Given the description of an element on the screen output the (x, y) to click on. 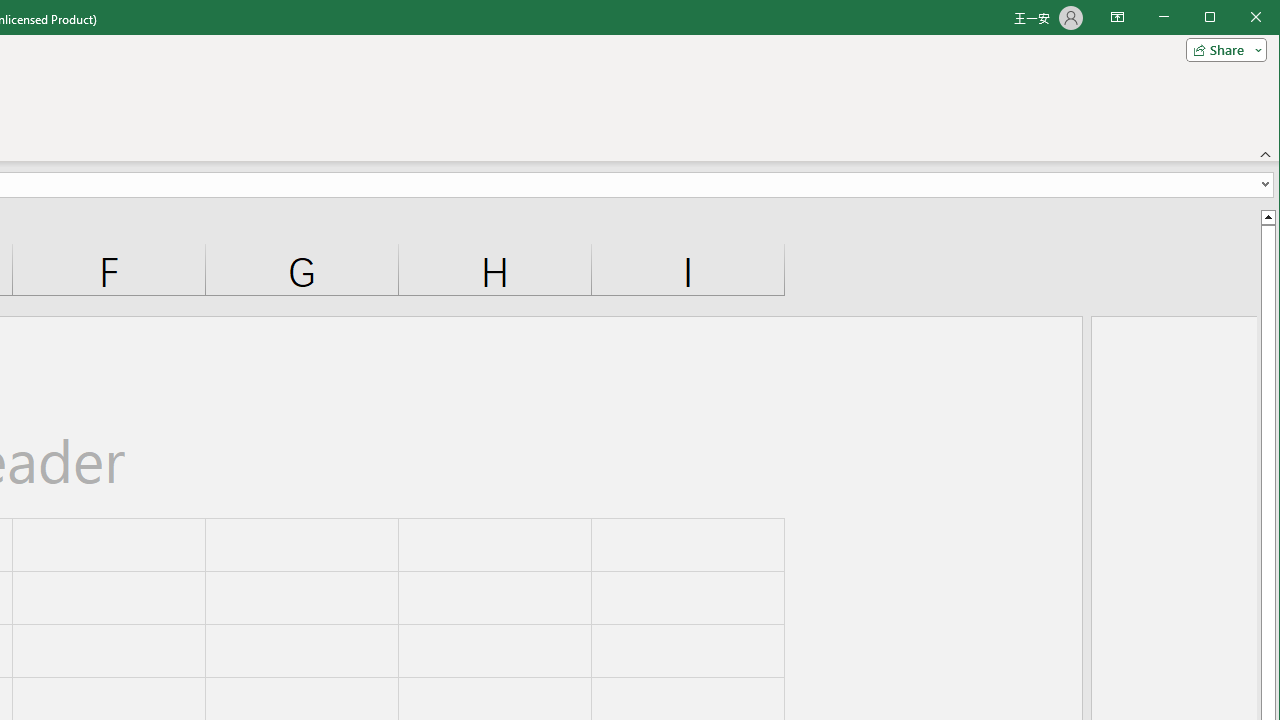
Maximize (1238, 18)
